Given the description of an element on the screen output the (x, y) to click on. 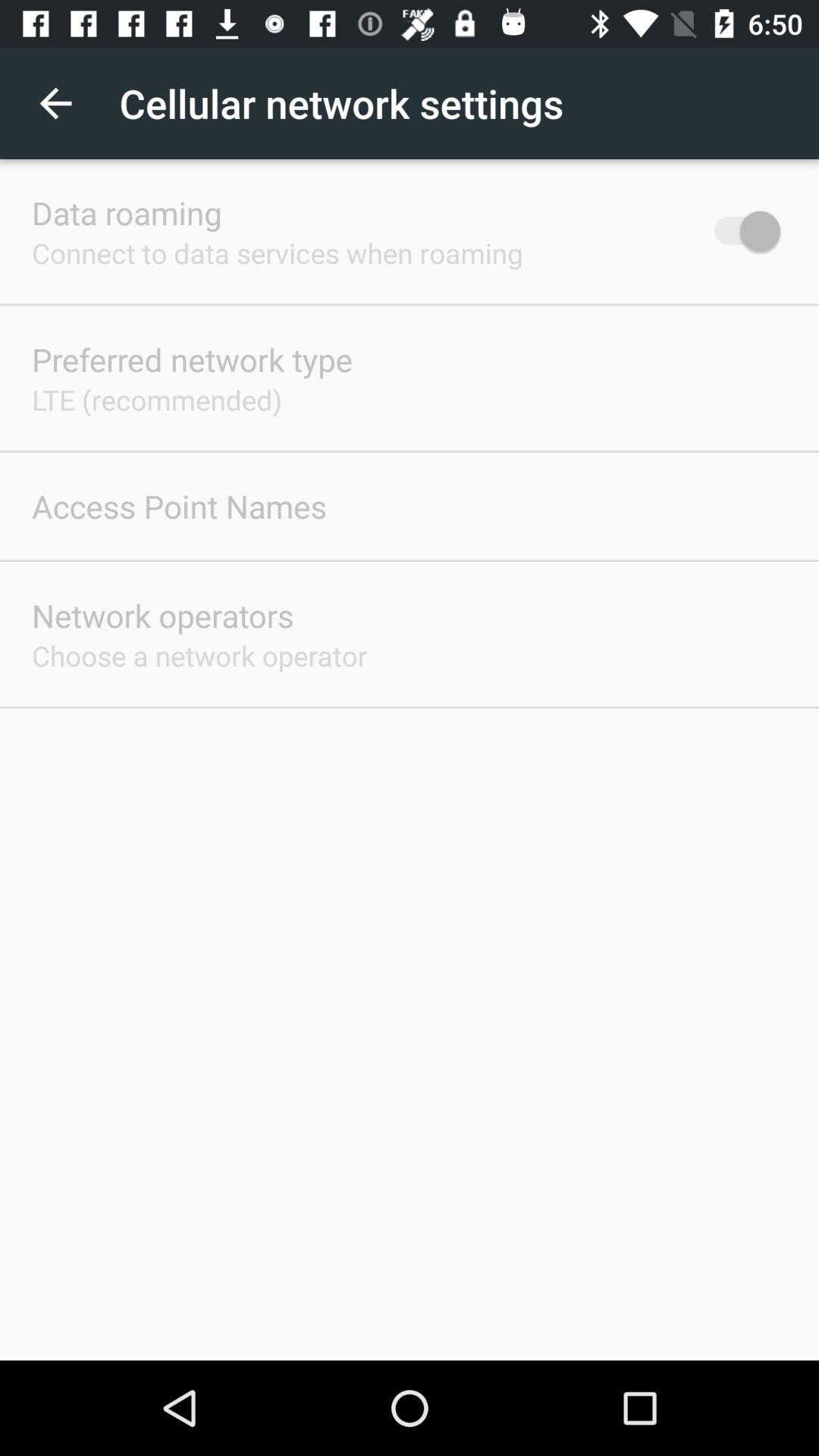
launch the app next to cellular network settings icon (55, 103)
